Given the description of an element on the screen output the (x, y) to click on. 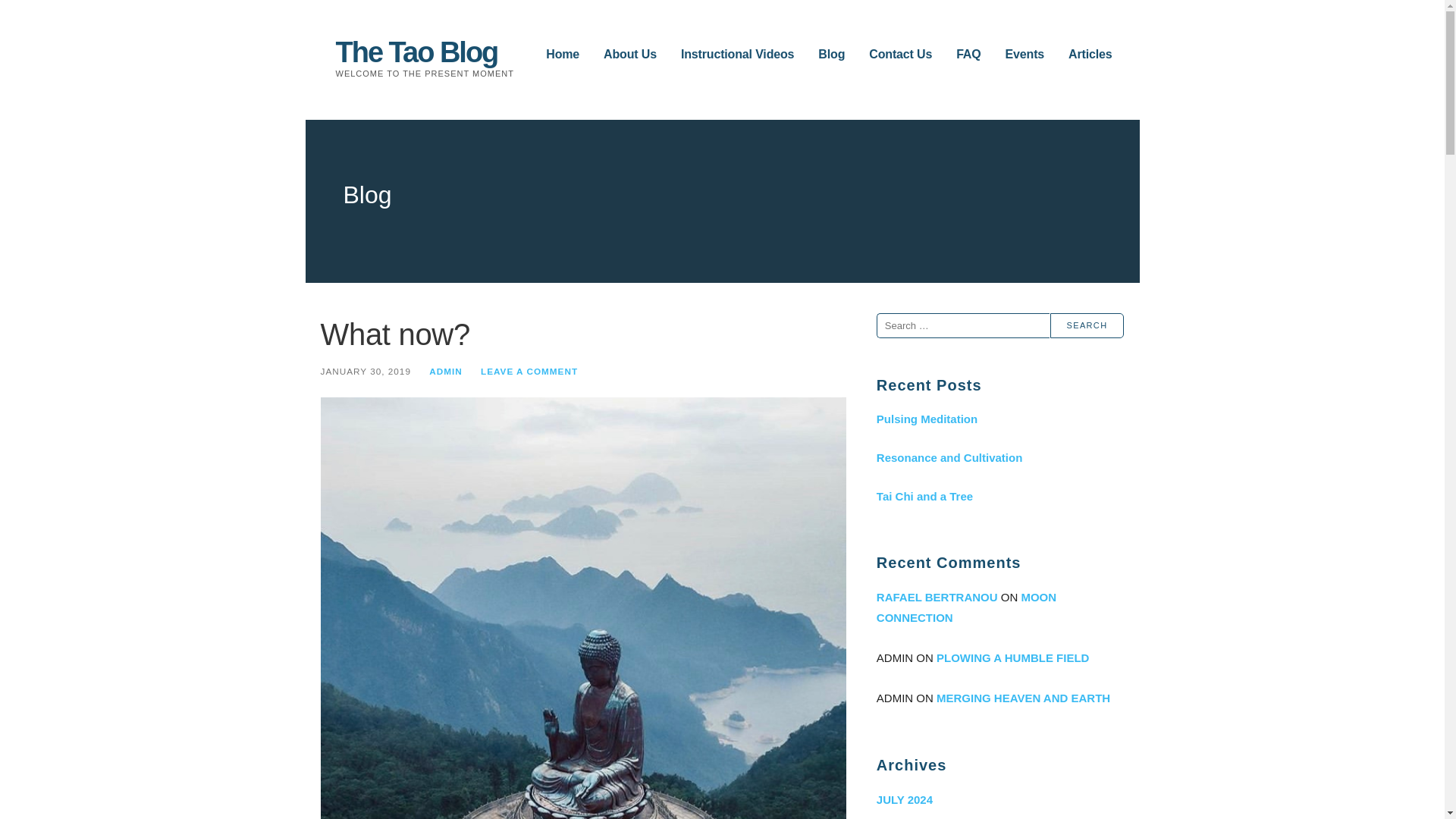
RAFAEL BERTRANOU (936, 596)
Tai Chi and a Tree (1000, 496)
Articles (1090, 55)
Contact Us (900, 55)
LEAVE A COMMENT (529, 370)
ADMIN (446, 370)
Pulsing Meditation (1000, 418)
MERGING HEAVEN AND EARTH (1022, 697)
Search (1086, 325)
MOON CONNECTION (966, 607)
Home (562, 55)
The Tao Blog (415, 51)
Resonance and Cultivation (1000, 457)
About Us (630, 55)
Posts by admin (446, 370)
